Given the description of an element on the screen output the (x, y) to click on. 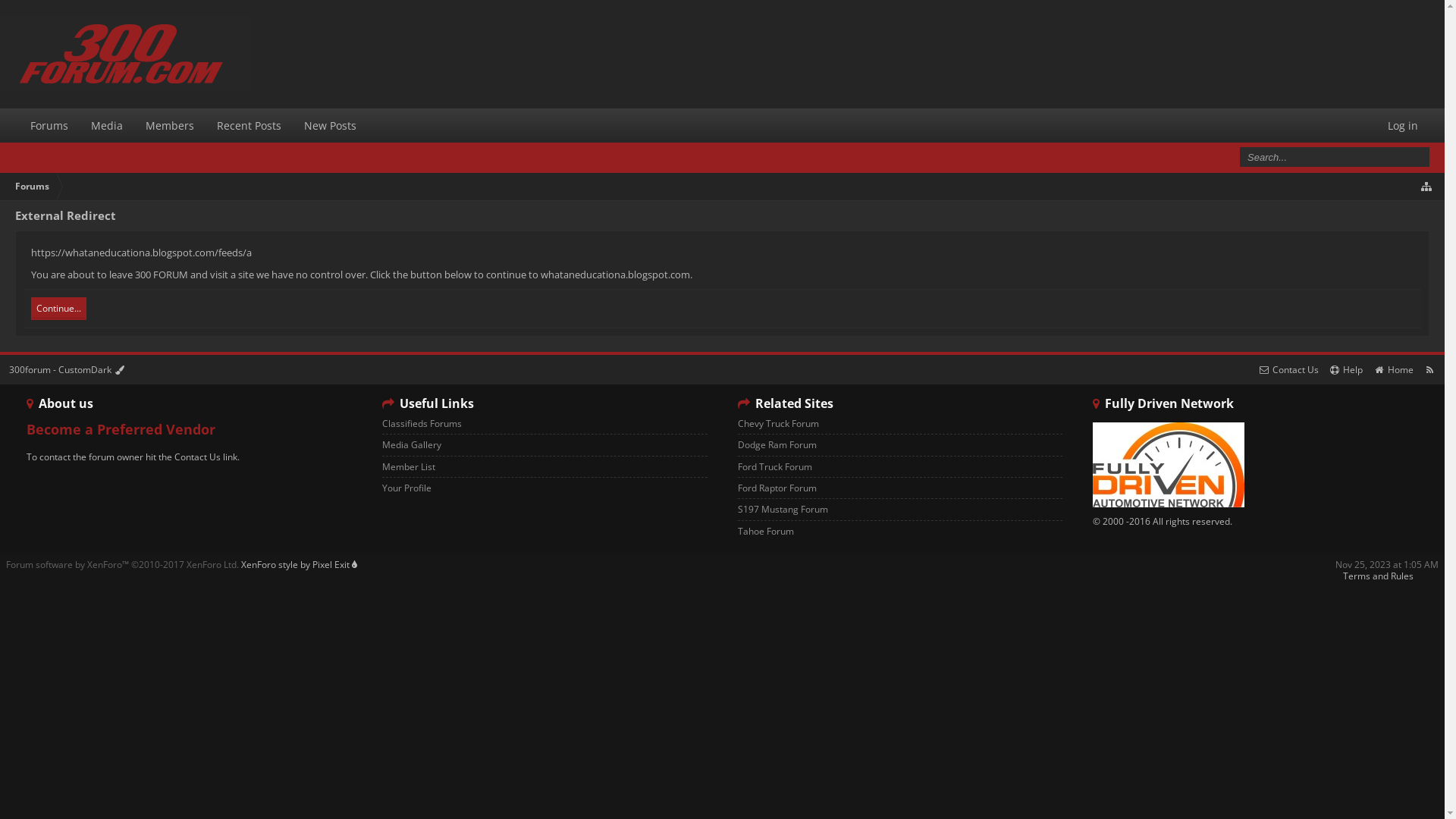
Chevy Truck Forum Element type: text (899, 423)
Help Element type: text (1346, 369)
Members Element type: text (169, 125)
Media Element type: text (106, 125)
Recent Posts Element type: text (248, 125)
Ford Raptor Forum Element type: text (899, 487)
Enter your search and hit enter Element type: hover (1333, 156)
Classifieds Forums Element type: text (544, 423)
Open quick navigation Element type: hover (1427, 186)
Media Gallery Element type: text (544, 444)
Tahoe Forum Element type: text (899, 530)
Dodge Ram Forum Element type: text (899, 444)
Contact Us Element type: text (1287, 369)
Home Element type: text (1393, 369)
Forums Element type: text (48, 125)
New Posts Element type: text (329, 125)
S197 Mustang Forum Element type: text (899, 509)
Continue... Element type: text (58, 308)
RSS feed for 300 FORUM Element type: hover (1429, 369)
Log in Element type: text (1402, 125)
Forums Element type: text (31, 186)
Terms and Rules Element type: text (1378, 575)
Your Profile Element type: text (544, 487)
Become a Preferred Vendor Element type: text (120, 430)
300forum - CustomDark Element type: text (66, 369)
XenForo style by Pixel Exit Element type: text (299, 564)
Member List Element type: text (544, 466)
Nov 25, 2023 at 1:05 AM Element type: text (1386, 564)
Ford Truck Forum Element type: text (899, 466)
